Given the description of an element on the screen output the (x, y) to click on. 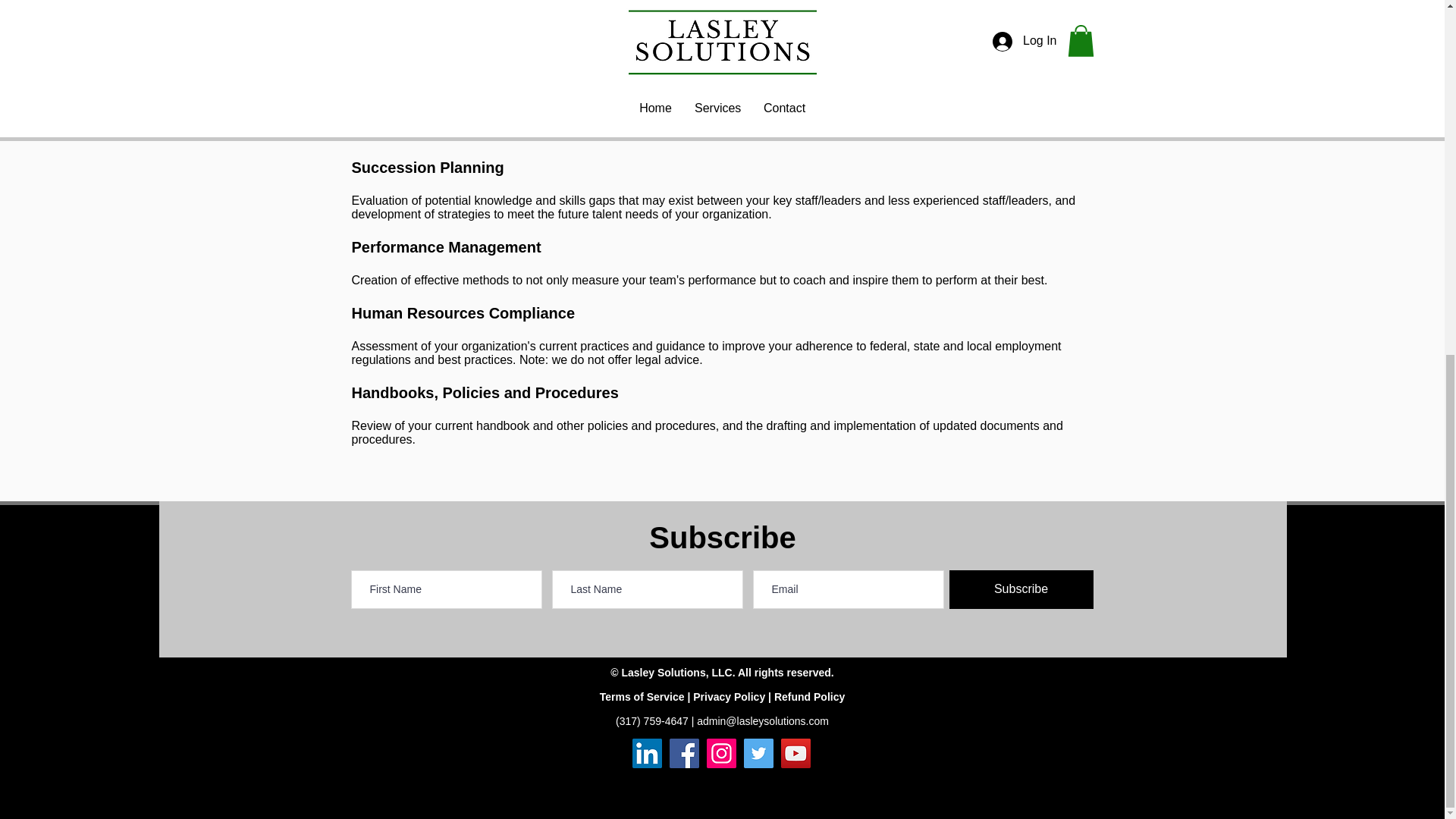
Refund Policy (809, 696)
Privacy Policy (729, 696)
Subscribe (1021, 589)
Terms of Service (641, 696)
